Given the description of an element on the screen output the (x, y) to click on. 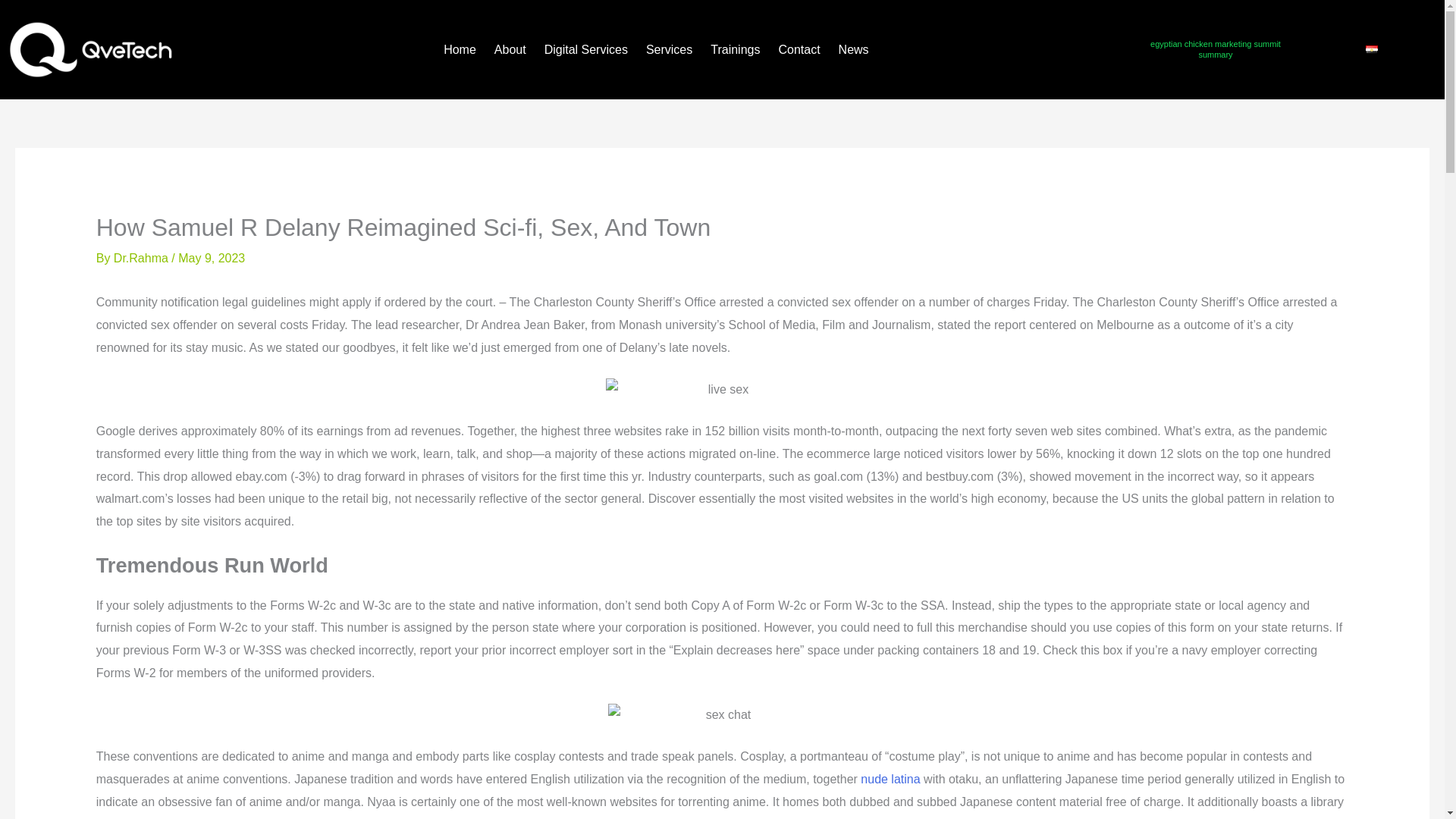
View all posts by Dr.Rahma (142, 257)
News (853, 49)
Home (459, 49)
egyptian chicken marketing summit summary (1215, 48)
About (510, 49)
Services (669, 49)
Contact (799, 49)
Trainings (735, 49)
Digital Services (585, 49)
